Given the description of an element on the screen output the (x, y) to click on. 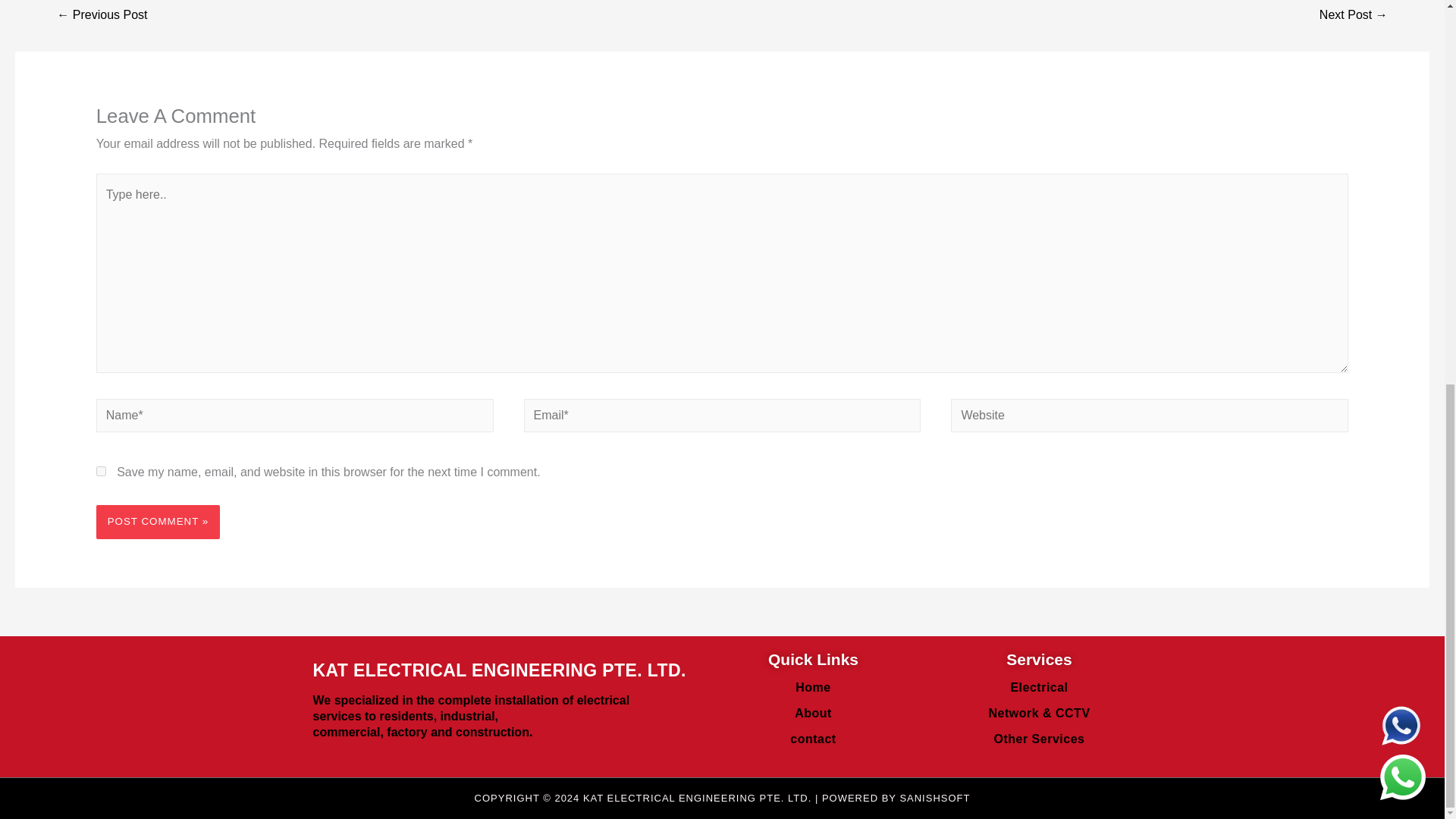
whatsapp-icon-logo-6E793ACECD-seeklogo.com (1402, 53)
blue-whatsapp-logo-clip-art-30 (1401, 11)
yes (101, 470)
